Given the description of an element on the screen output the (x, y) to click on. 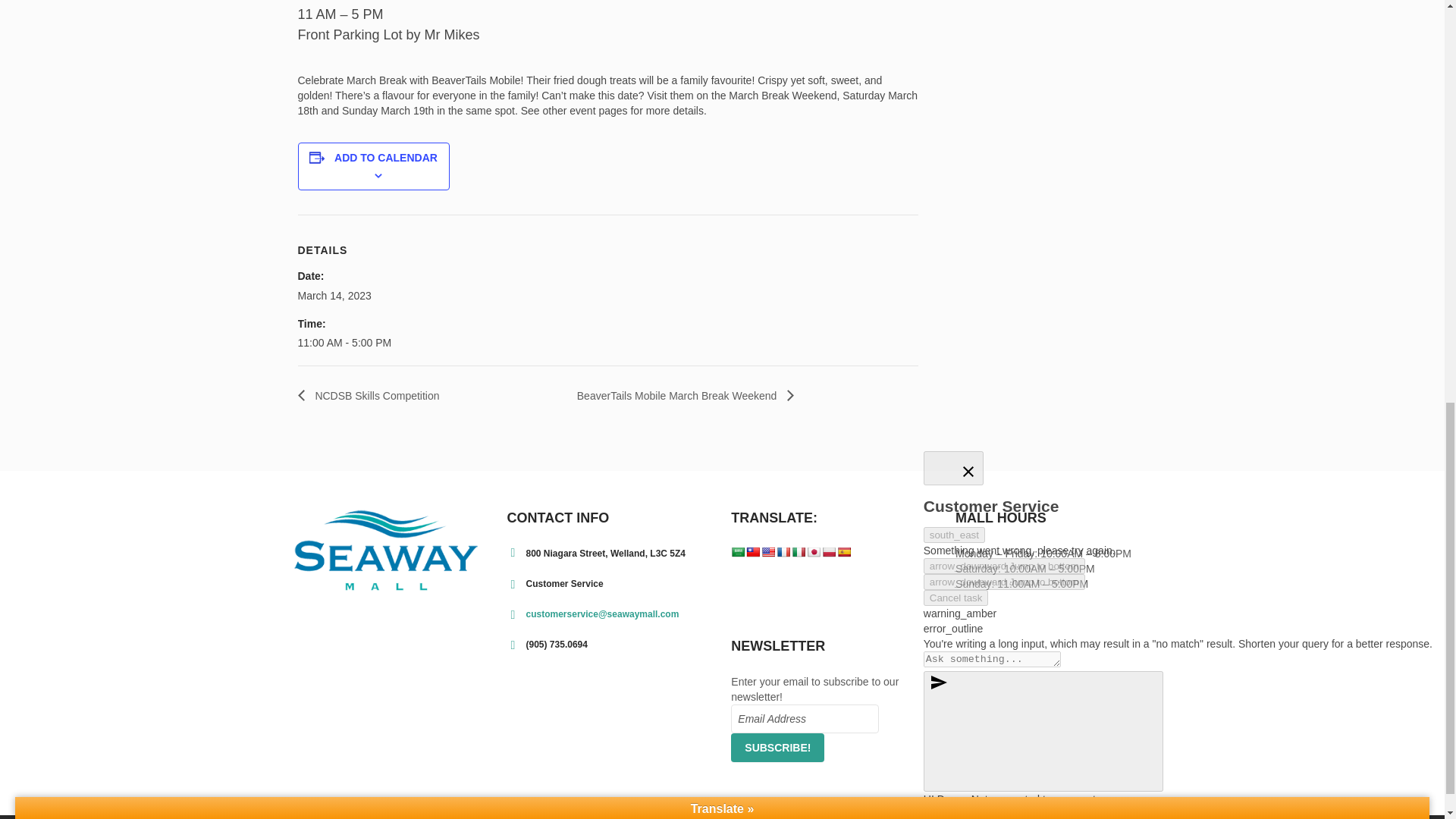
ADD TO CALENDAR (386, 157)
NCDSB Skills Competition (371, 395)
2023-03-14 (361, 342)
2023-03-14 (334, 295)
Subscribe! (777, 747)
BeaverTails Mobile March Break Weekend (681, 395)
